Given the description of an element on the screen output the (x, y) to click on. 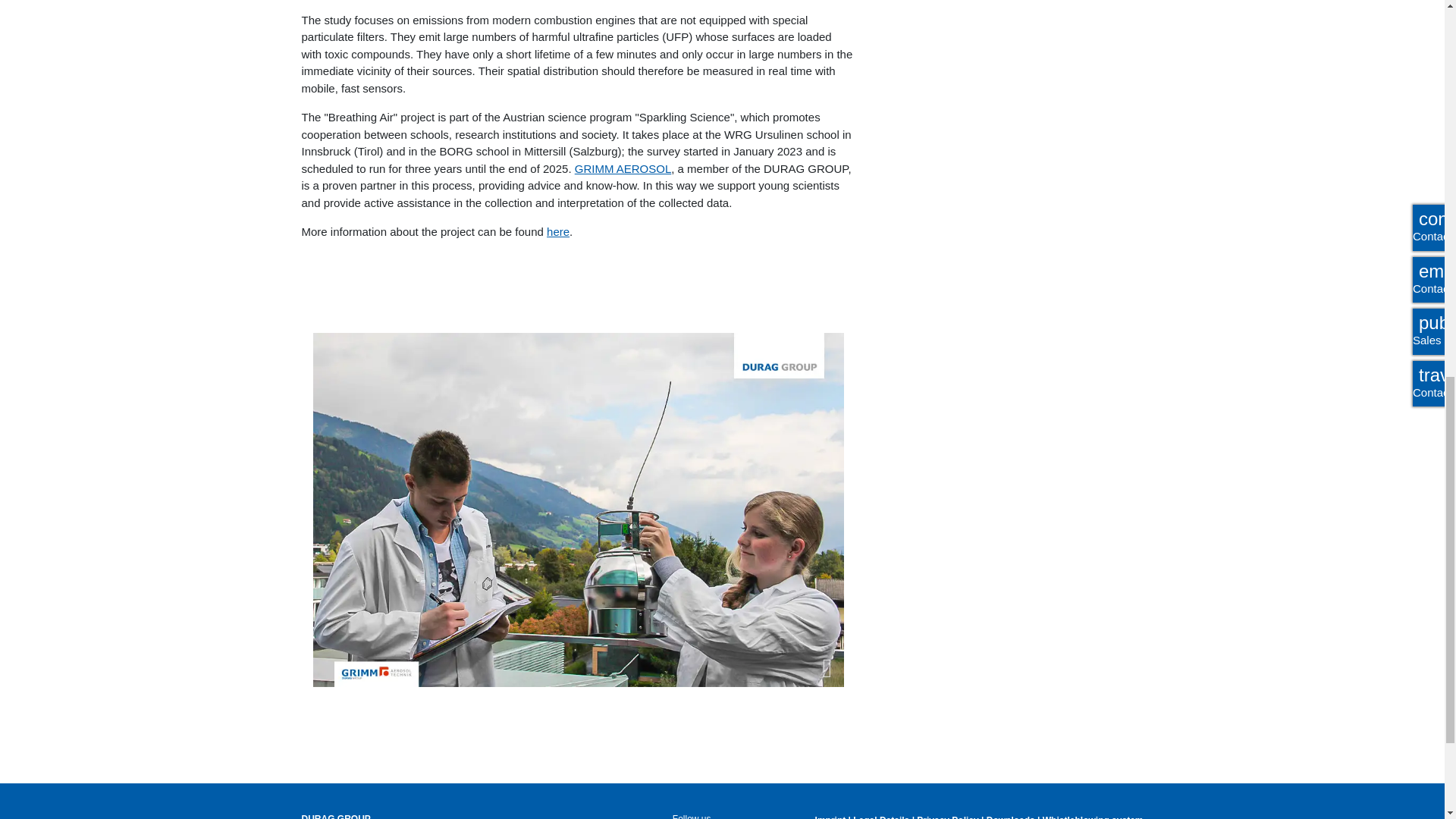
Back to top (1406, 15)
